Given the description of an element on the screen output the (x, y) to click on. 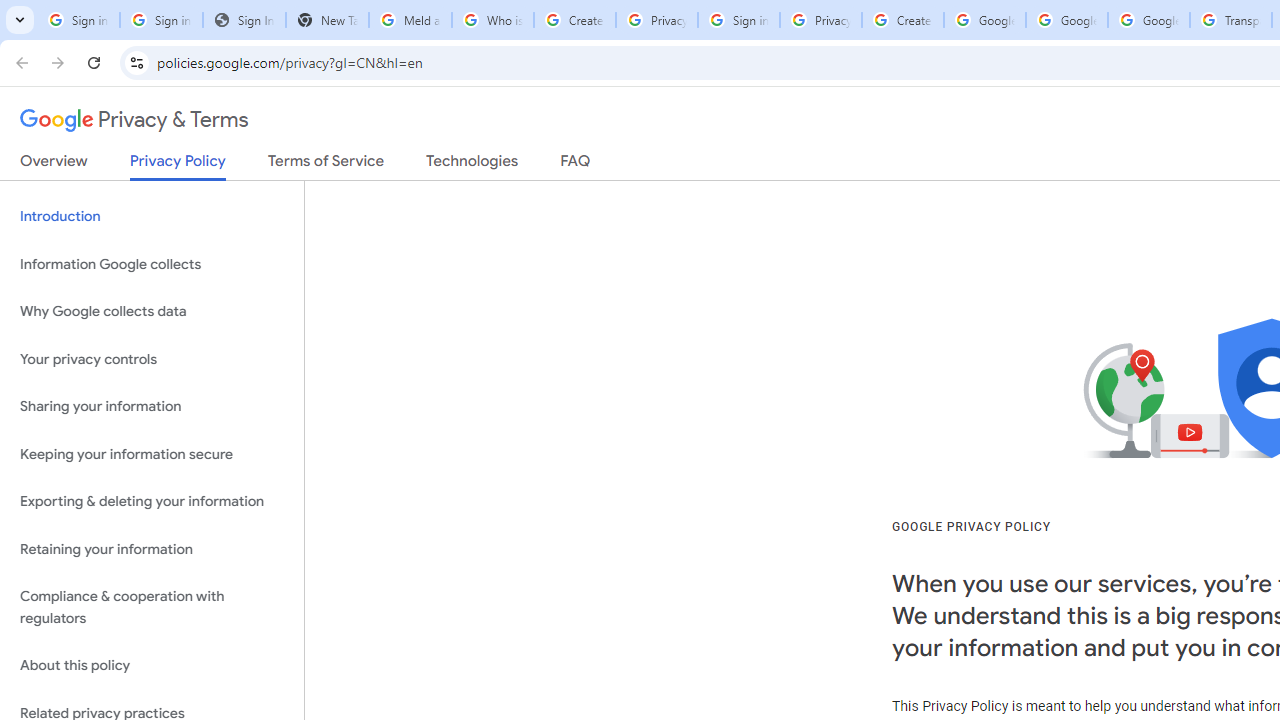
Google Account (1149, 20)
Sign in - Google Accounts (738, 20)
Keeping your information secure (152, 453)
Your privacy controls (152, 358)
Who is my administrator? - Google Account Help (492, 20)
